Given the description of an element on the screen output the (x, y) to click on. 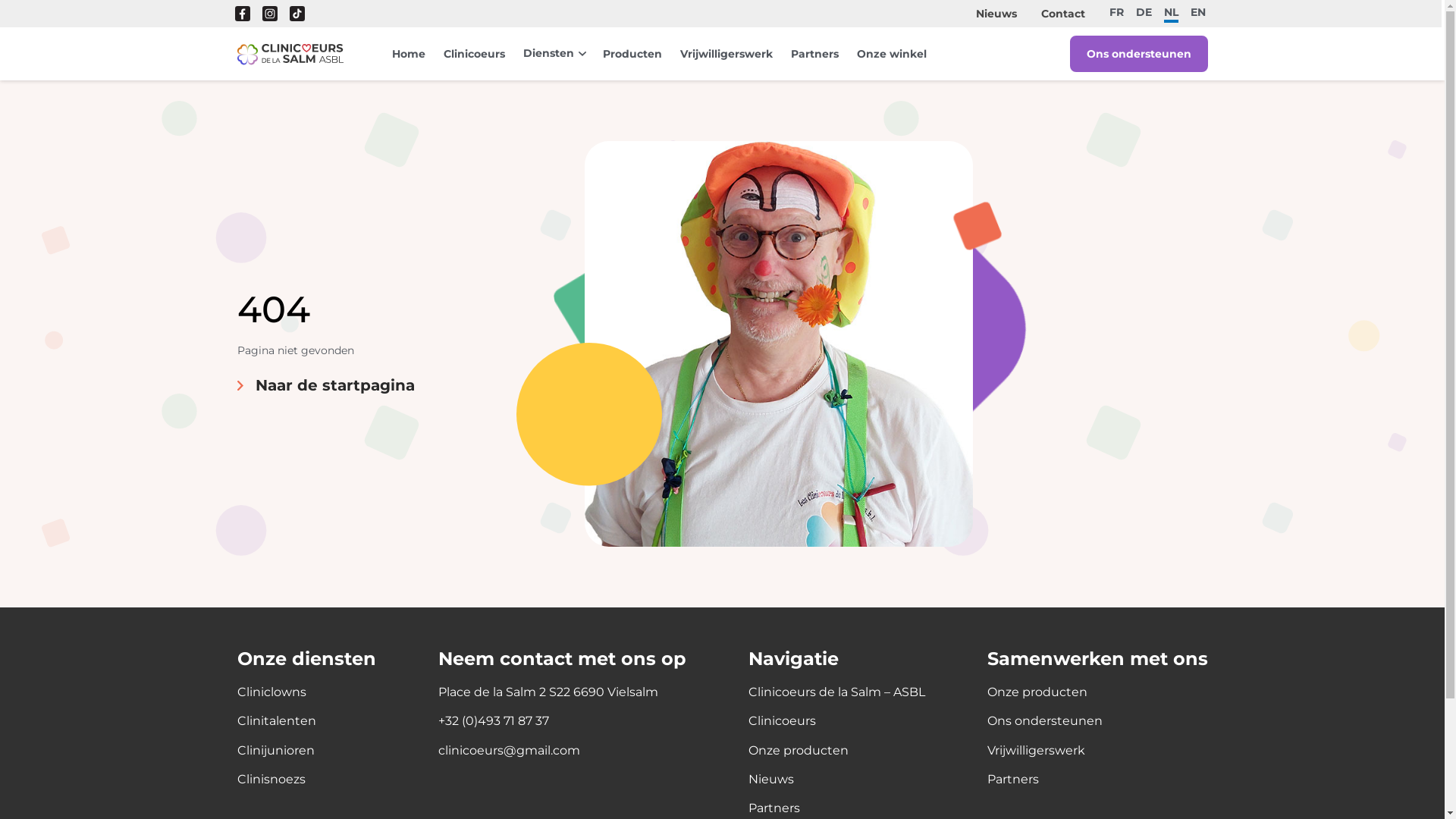
Partners Element type: text (1012, 779)
Nieuws Element type: text (995, 13)
Place de la Salm 2 S22 6690 Vielsalm Element type: text (548, 691)
Tik Tok Element type: text (296, 13)
Onze winkel Element type: text (891, 53)
Clinijunioren Element type: text (274, 750)
Naar de startpagina Element type: text (325, 384)
Contact Element type: text (1063, 13)
Ons ondersteunen Element type: text (1138, 53)
Home Element type: text (407, 53)
Partners Element type: text (773, 807)
Instagram Element type: text (269, 13)
Onze producten Element type: text (1037, 691)
Naar de startpagina Element type: hover (289, 53)
Clinicoeurs Element type: text (473, 53)
Menu mobile Element type: text (289, 53)
Partners Element type: text (813, 53)
Ons ondersteunen Element type: text (1044, 720)
Clinisnoezs Element type: text (270, 779)
Vrijwilligerswerk Element type: text (725, 53)
DE
KIES TAAL DUITS Element type: text (1143, 11)
Facebook Element type: text (242, 13)
clinicoeurs@gmail.com Element type: text (509, 750)
Cliniclowns Element type: text (270, 691)
FR
KIES TAAL NEDERLANDS Element type: text (1116, 11)
+32 (0)493 71 87 37 Element type: text (493, 720)
Vrijwilligerswerk Element type: text (1036, 750)
Clinicoeurs Element type: text (781, 720)
EN
KIES TAAL DUITS Element type: text (1197, 11)
Onze producten Element type: text (797, 750)
Producten Element type: text (631, 53)
Nieuws Element type: text (770, 779)
NL
KIES TAAL FRANS Element type: text (1171, 13)
Clinitalenten Element type: text (275, 720)
